Given the description of an element on the screen output the (x, y) to click on. 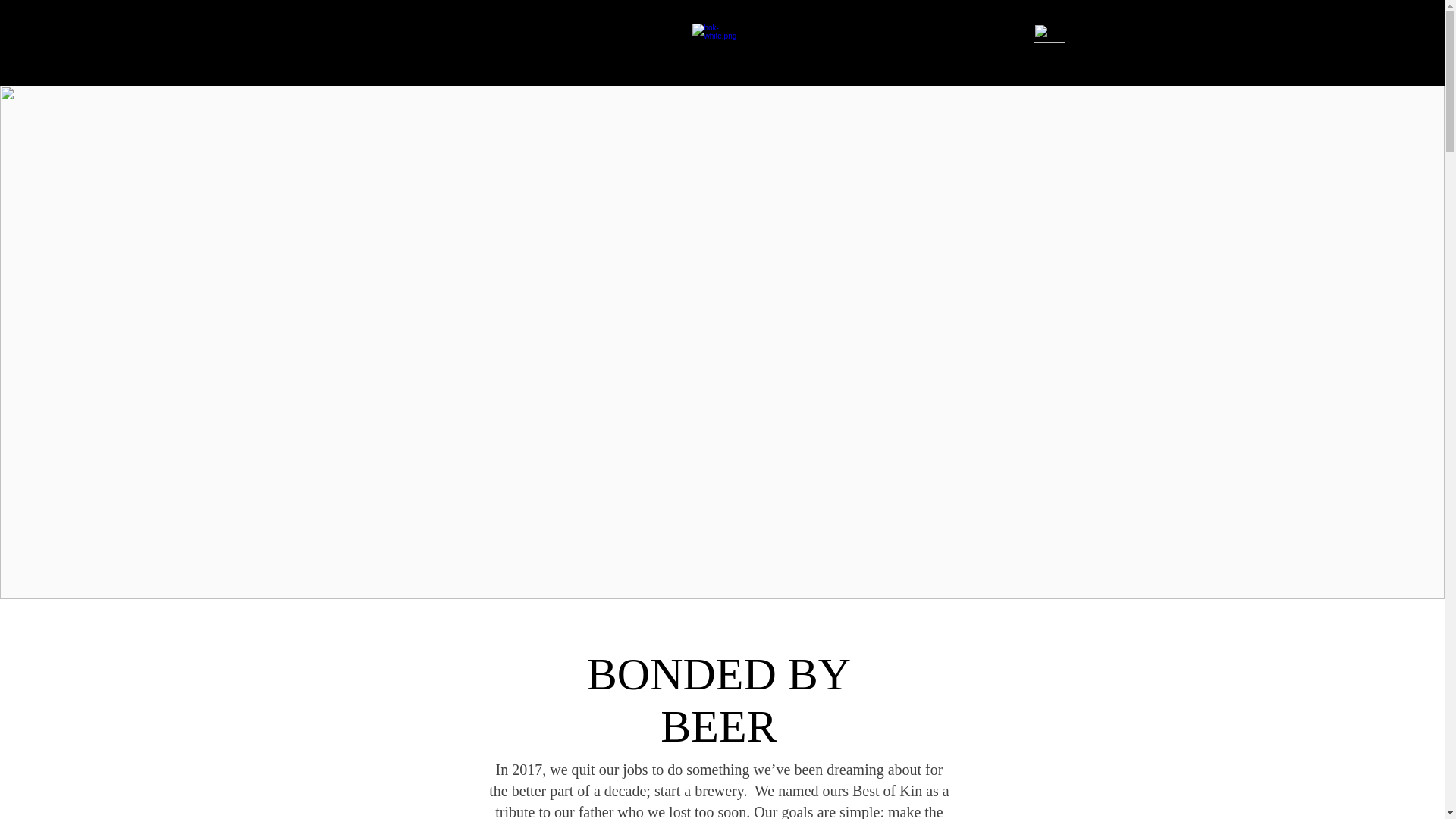
Hamburger Button.png Element type: hover (1048, 33)
